Given the description of an element on the screen output the (x, y) to click on. 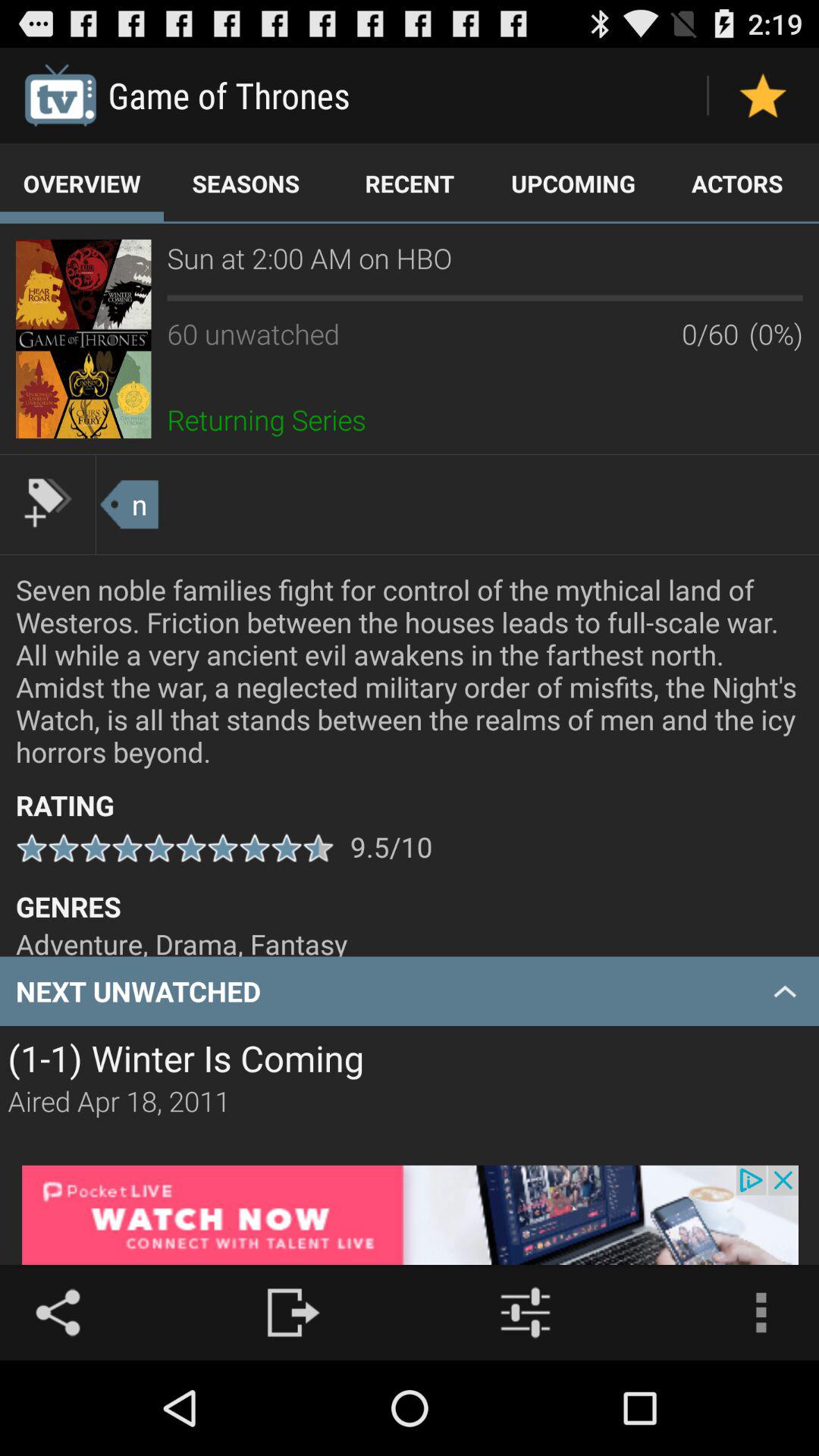
like (763, 95)
